Given the description of an element on the screen output the (x, y) to click on. 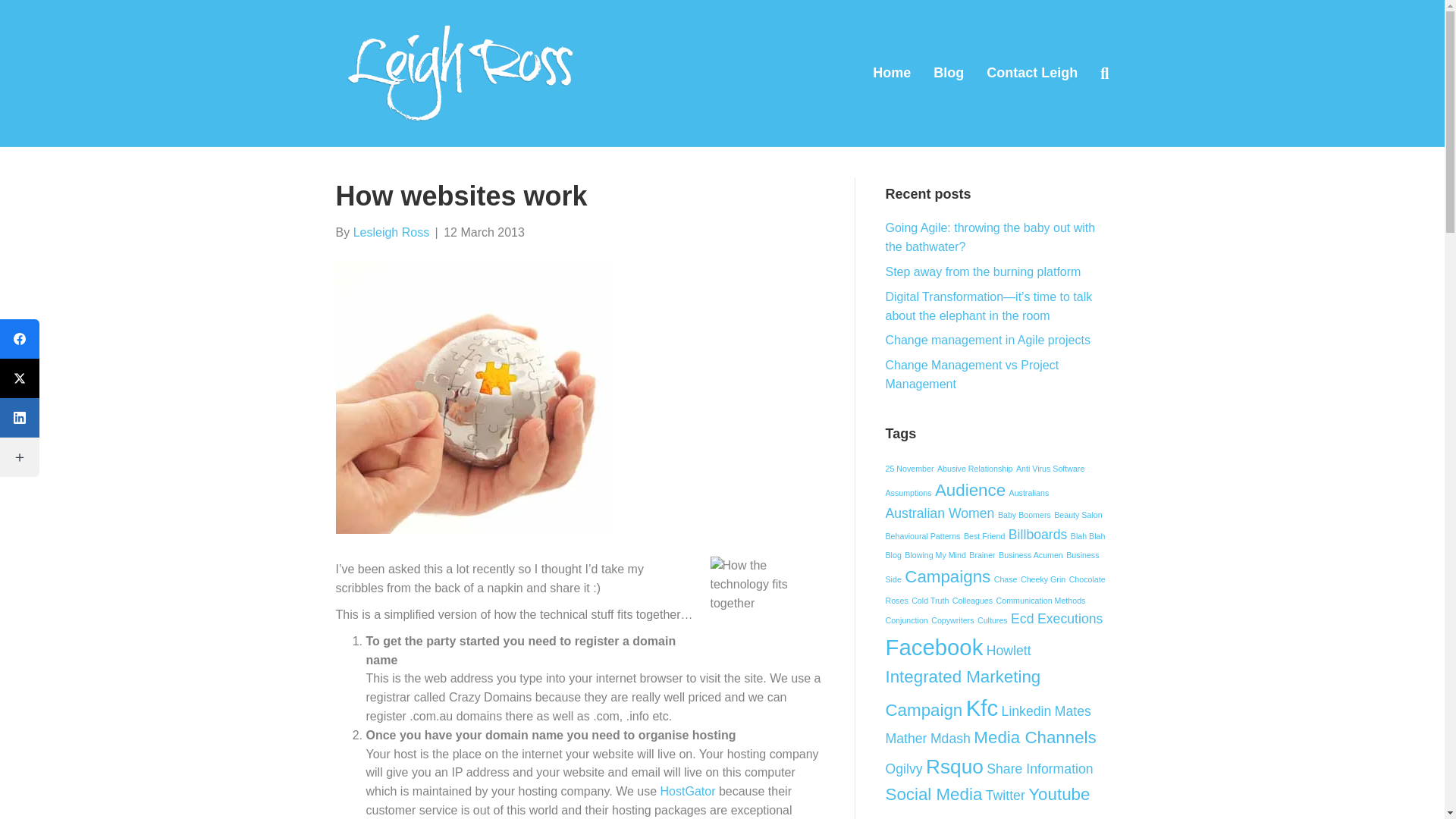
Assumptions (908, 492)
Australians (1029, 492)
Abusive Relationship (975, 468)
25 November (909, 468)
Beauty Salon (1078, 514)
Blog (948, 73)
Anti Virus Software (1050, 468)
Behavioural Patterns (922, 535)
Contact Leigh (1032, 73)
HostGator (688, 790)
